Given the description of an element on the screen output the (x, y) to click on. 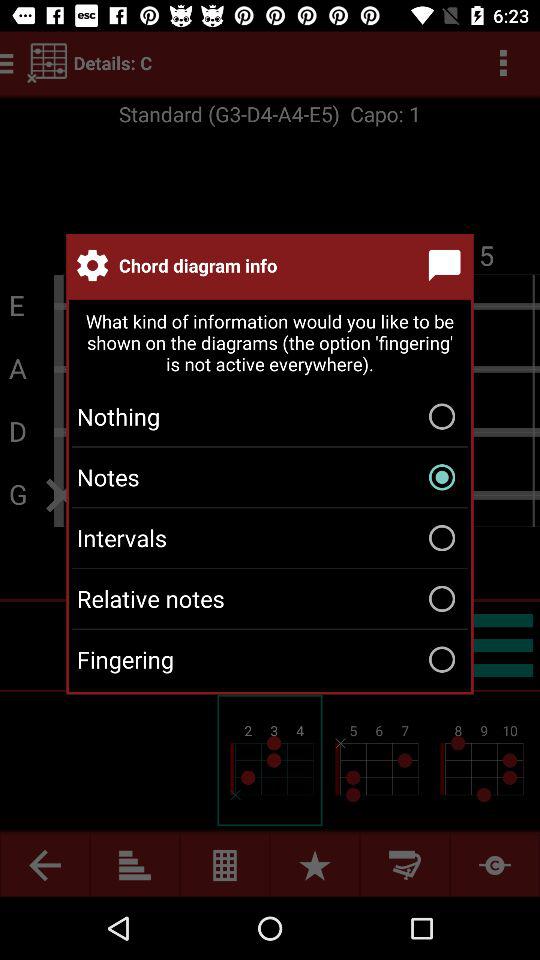
select intervals (269, 537)
